Given the description of an element on the screen output the (x, y) to click on. 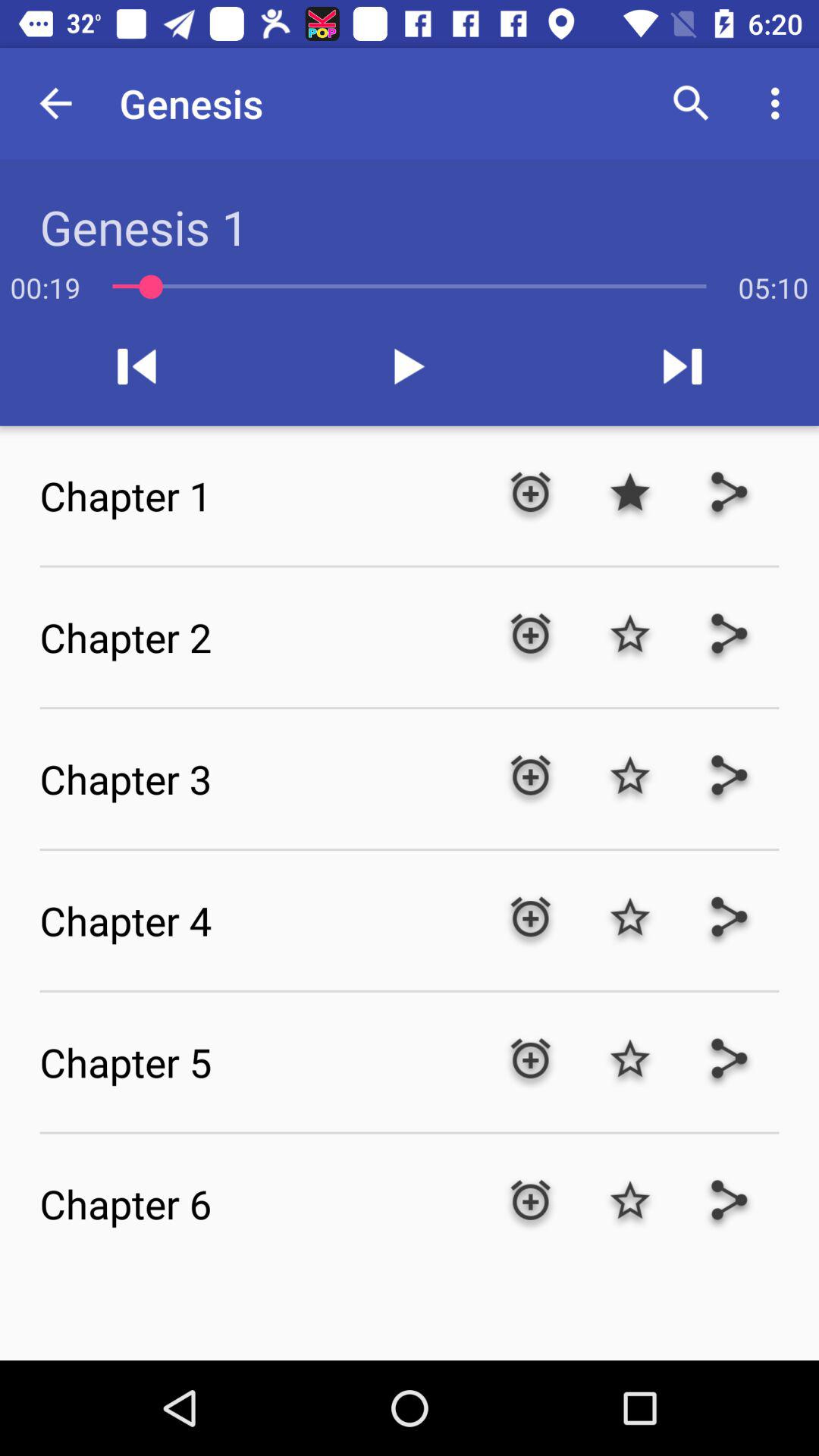
launch the app next to the genesis item (55, 103)
